Given the description of an element on the screen output the (x, y) to click on. 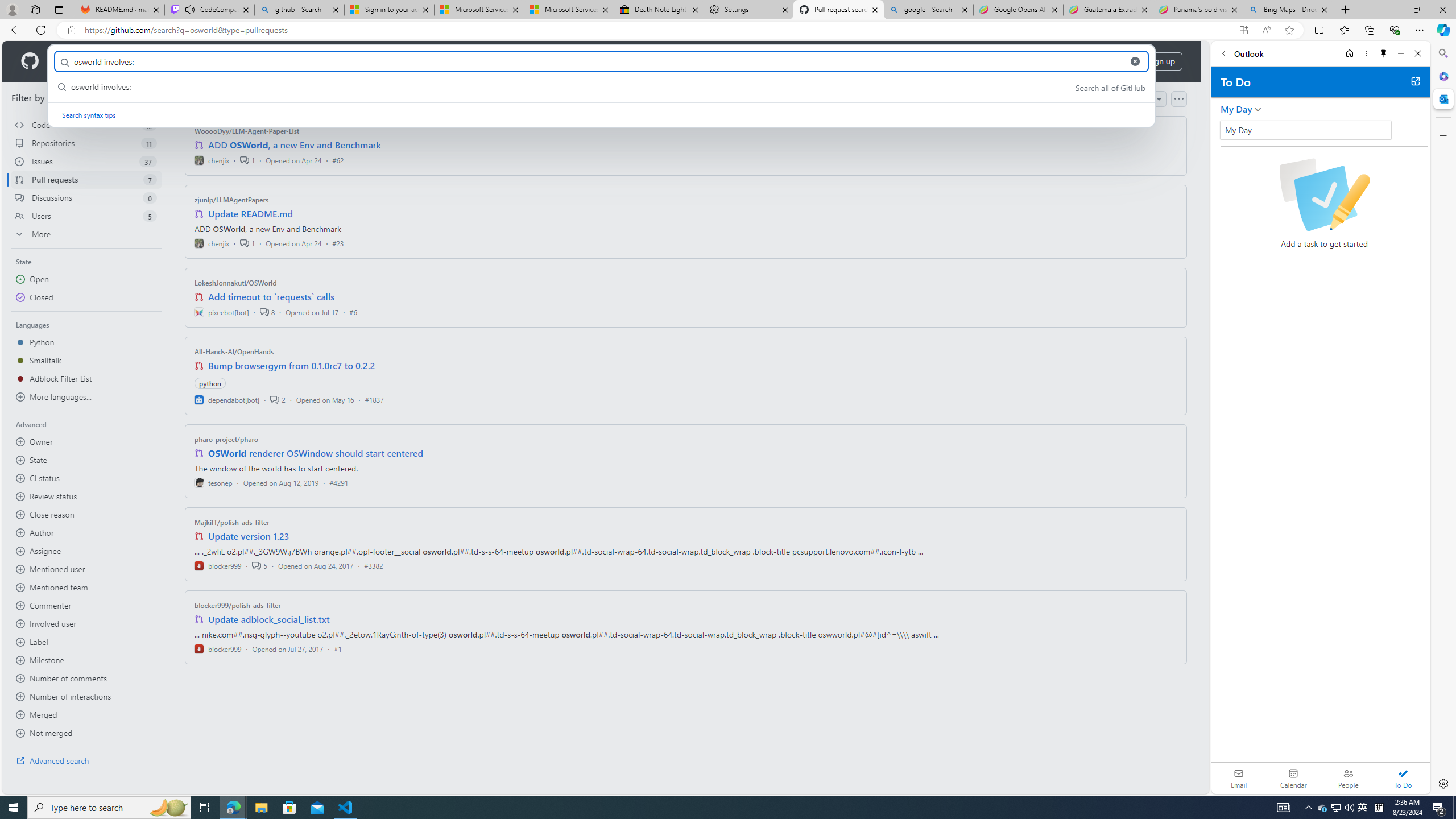
pixeebot[bot] (221, 311)
OSWorld renderer OSWindow should start centered (315, 453)
Sign up (1161, 61)
Unpin side pane (1383, 53)
dependabot[bot] (227, 398)
Bump browsergym from 0.1.0rc7 to 0.2.2 (291, 365)
Product (74, 60)
github - Search (298, 9)
#6 (352, 311)
